Given the description of an element on the screen output the (x, y) to click on. 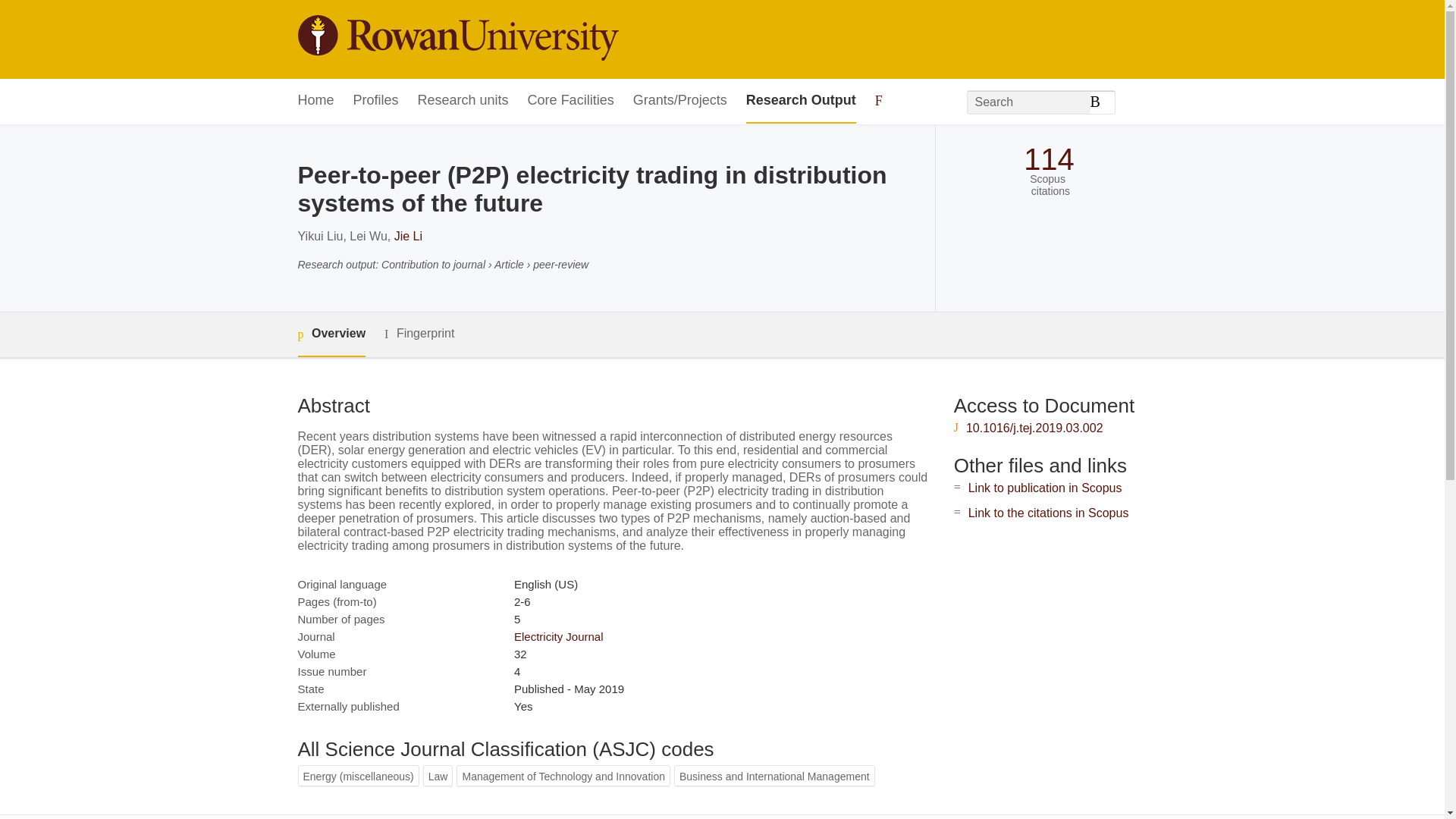
Research Output (800, 100)
Link to the citations in Scopus (1048, 512)
Profiles (375, 100)
Overview (331, 334)
Core Facilities (570, 100)
114 (1048, 159)
Research units (462, 100)
Electricity Journal (558, 635)
Jie Li (408, 236)
Link to publication in Scopus (1045, 487)
Fingerprint (419, 333)
Rowan University Home (457, 39)
Home (315, 100)
